Given the description of an element on the screen output the (x, y) to click on. 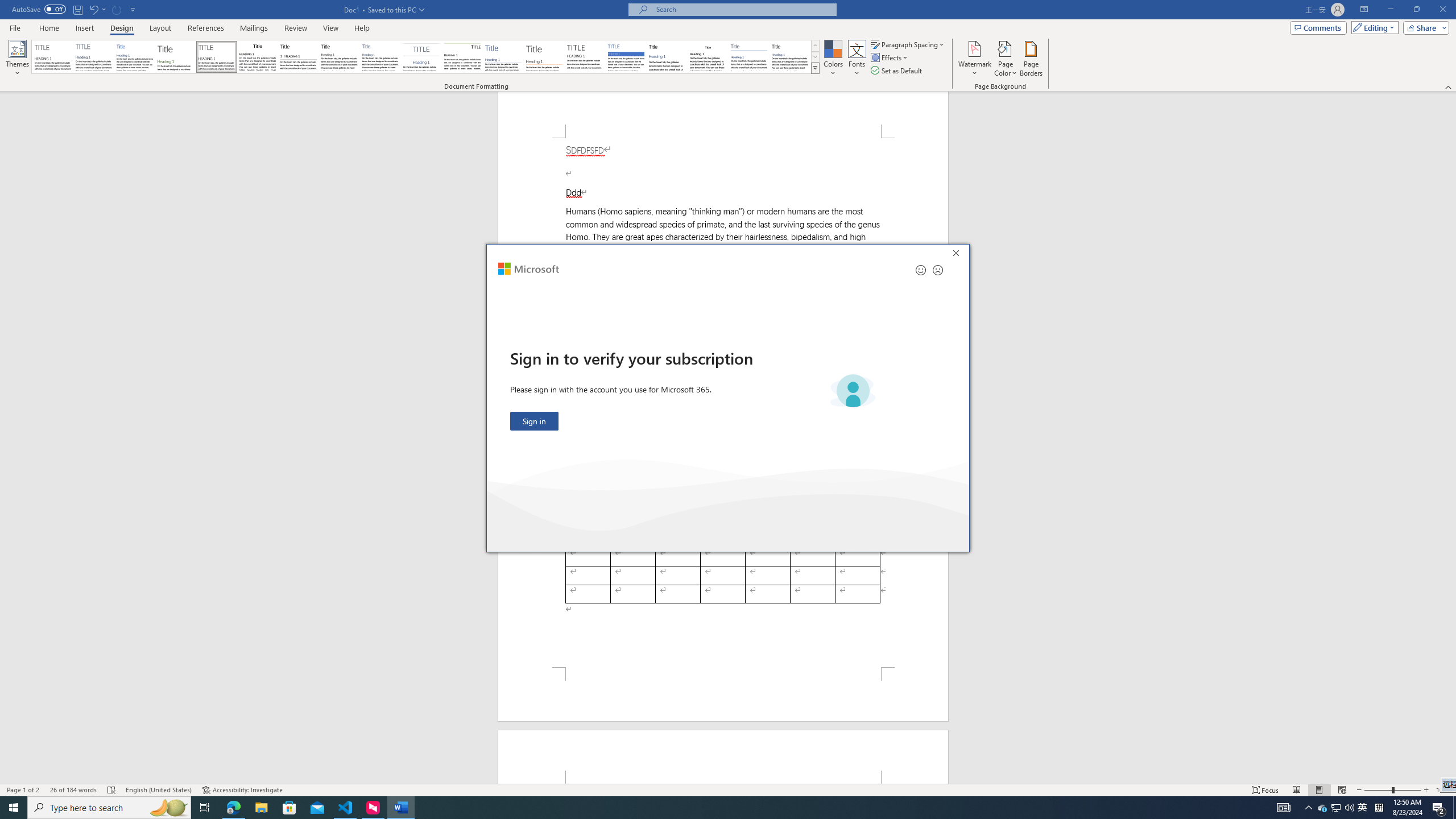
Sign in (534, 420)
Style Set (814, 67)
Document (52, 56)
File Explorer (261, 807)
Tray Input Indicator - Chinese (Simplified, China) (1378, 807)
Lines (Stylish) (544, 56)
